Given the description of an element on the screen output the (x, y) to click on. 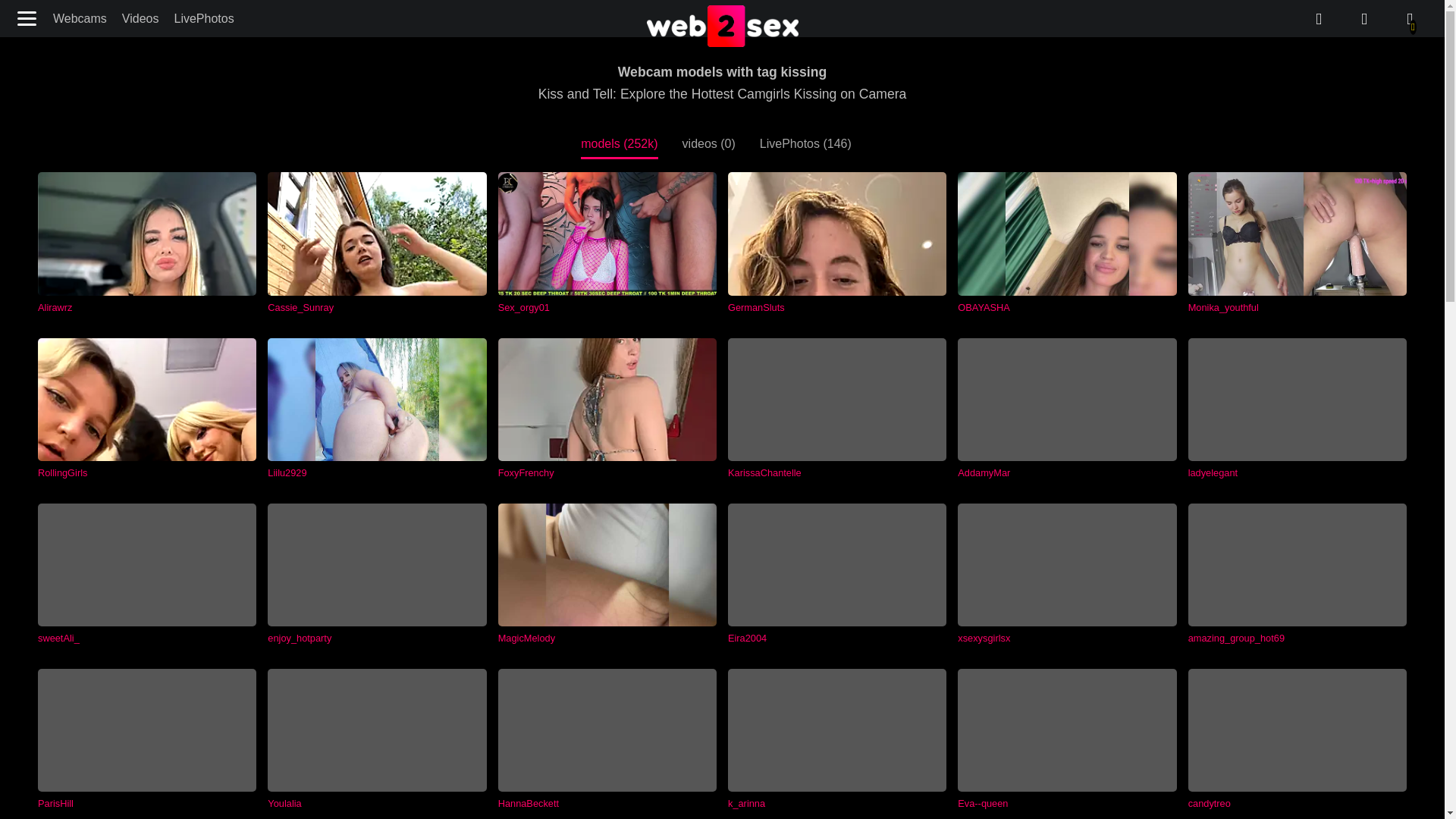
Liilu2929 (376, 408)
Videos (141, 18)
Menu (28, 18)
ladyelegant (1297, 408)
xsexysgirlsx (1067, 573)
KarissaChantelle (837, 408)
profile (1409, 19)
AddamyMar (1067, 408)
LivePhotos (203, 18)
web2sex.com Sex Chat and Live XXX Porn Shows (721, 26)
live photos (1363, 19)
GermanSluts (837, 241)
FoxyFrenchy (606, 408)
Webcams (80, 18)
RollingGirls (146, 408)
